Given the description of an element on the screen output the (x, y) to click on. 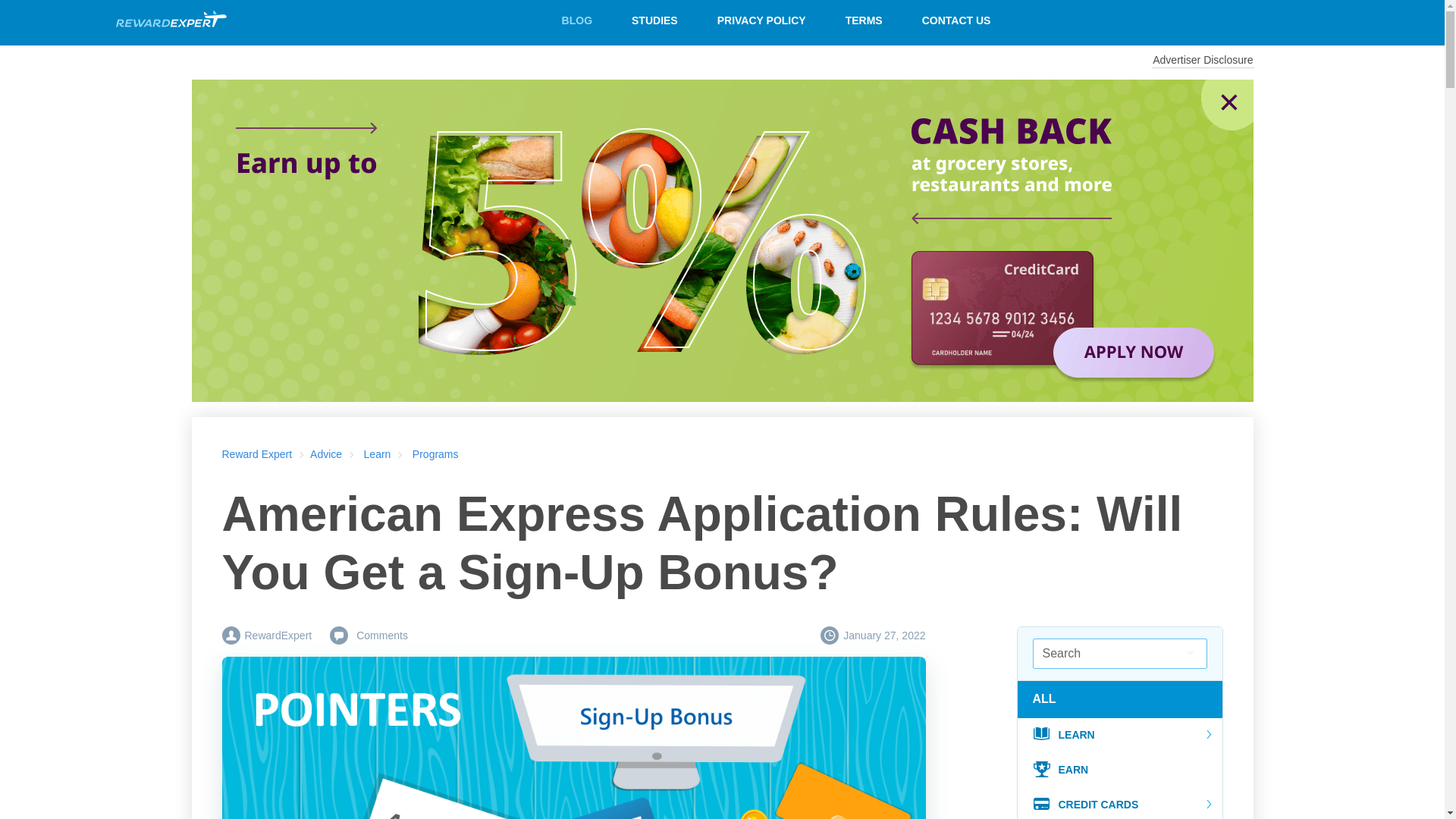
ALL (1048, 698)
STUDIES (654, 20)
PRIVACY POLICY (761, 20)
Learn (377, 453)
LEARN (1120, 735)
Advice (326, 453)
Advertiser Disclosure (1202, 60)
Reward Expert (256, 453)
TERMS (863, 20)
BLOG (576, 20)
Programs (435, 453)
CONTACT US (956, 20)
